Given the description of an element on the screen output the (x, y) to click on. 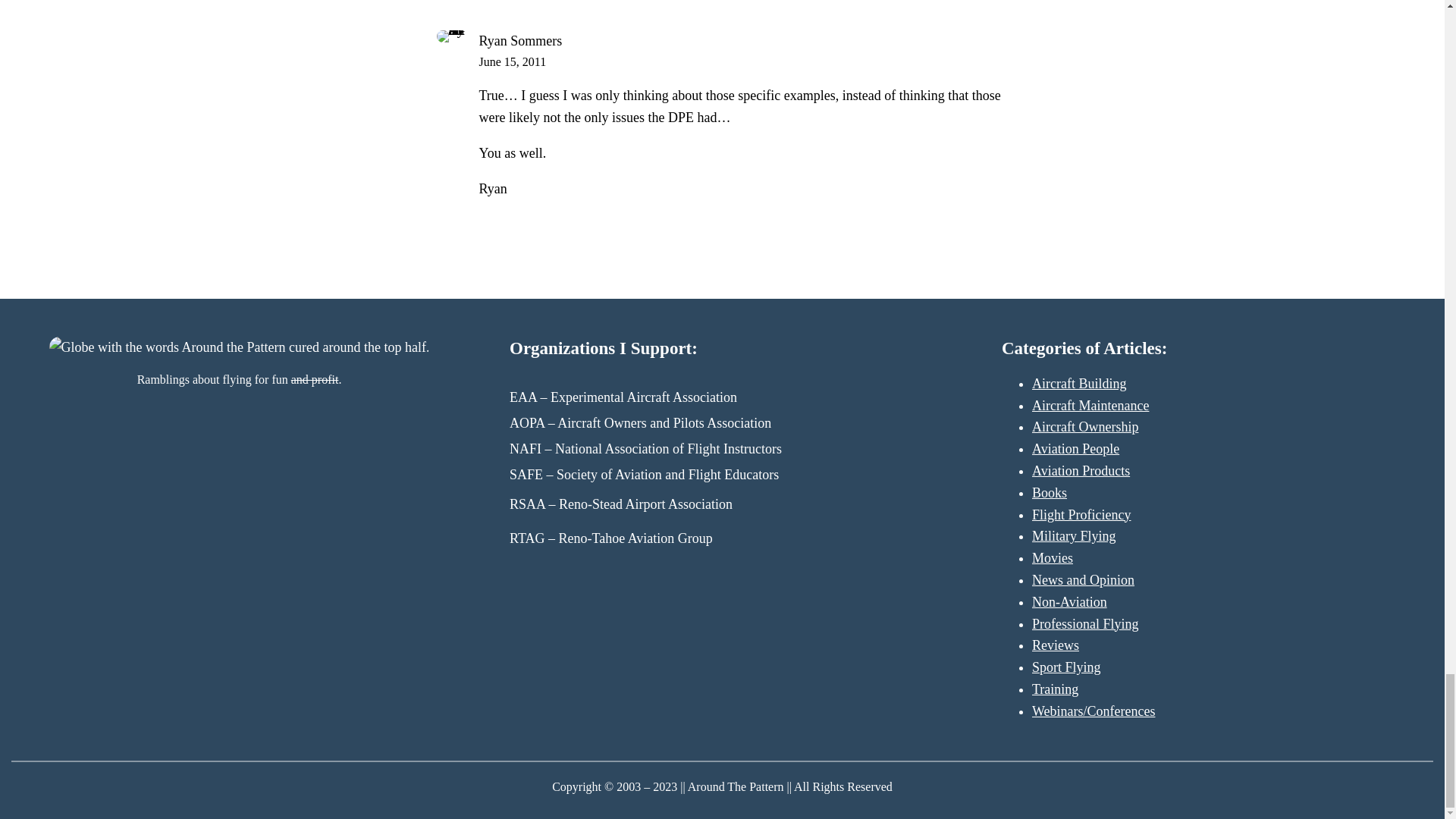
Non-Aviation (1069, 601)
Professional Flying (1085, 623)
Aircraft Ownership (1085, 426)
Movies (1052, 557)
Ryan Sommers (520, 40)
Aviation Products (1080, 470)
Flight Proficiency (1081, 514)
News and Opinion (1083, 580)
Books (1049, 492)
June 15, 2011 (513, 61)
